Given the description of an element on the screen output the (x, y) to click on. 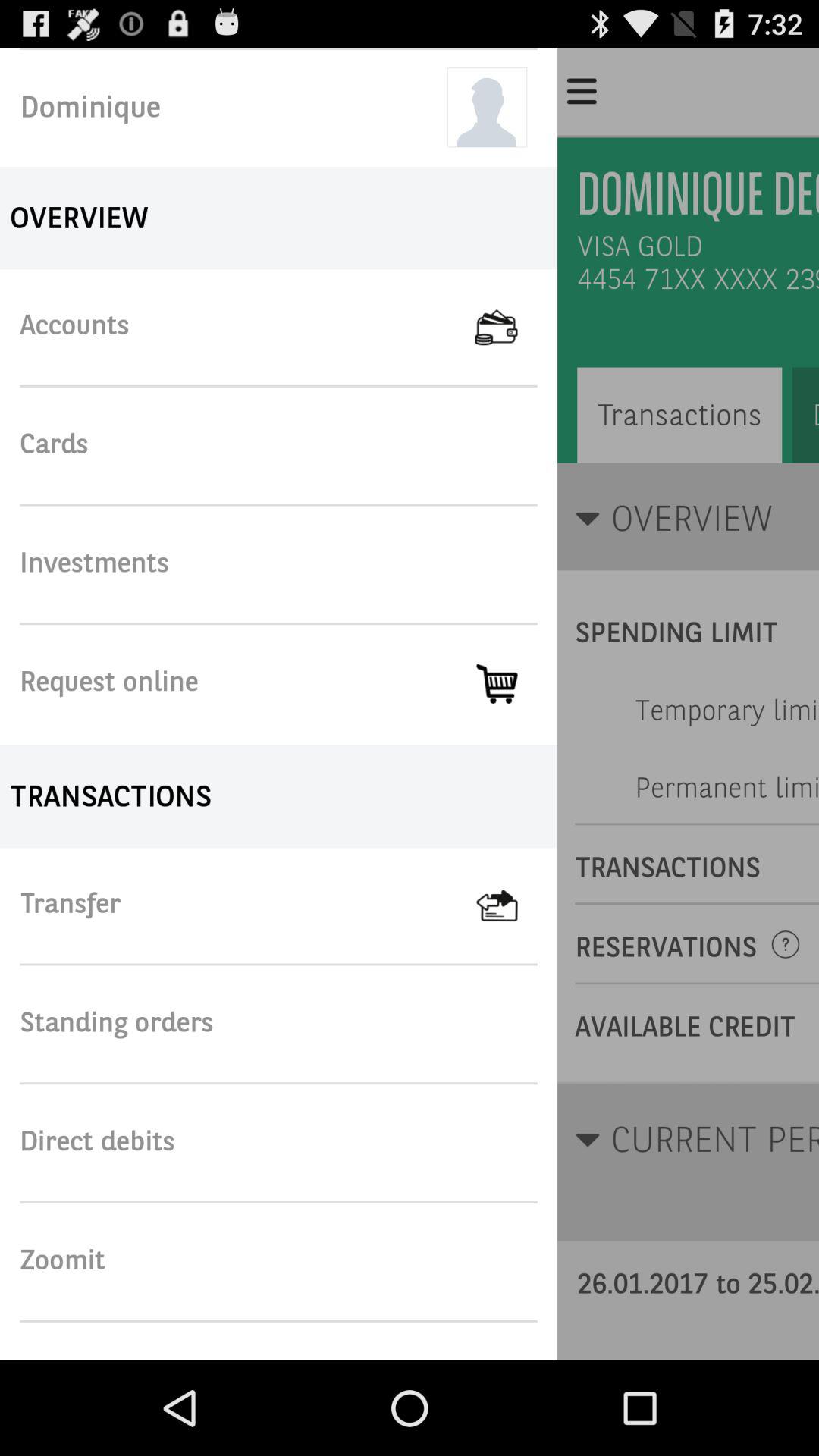
click on the button which is next to the transfer (516, 905)
